Given the description of an element on the screen output the (x, y) to click on. 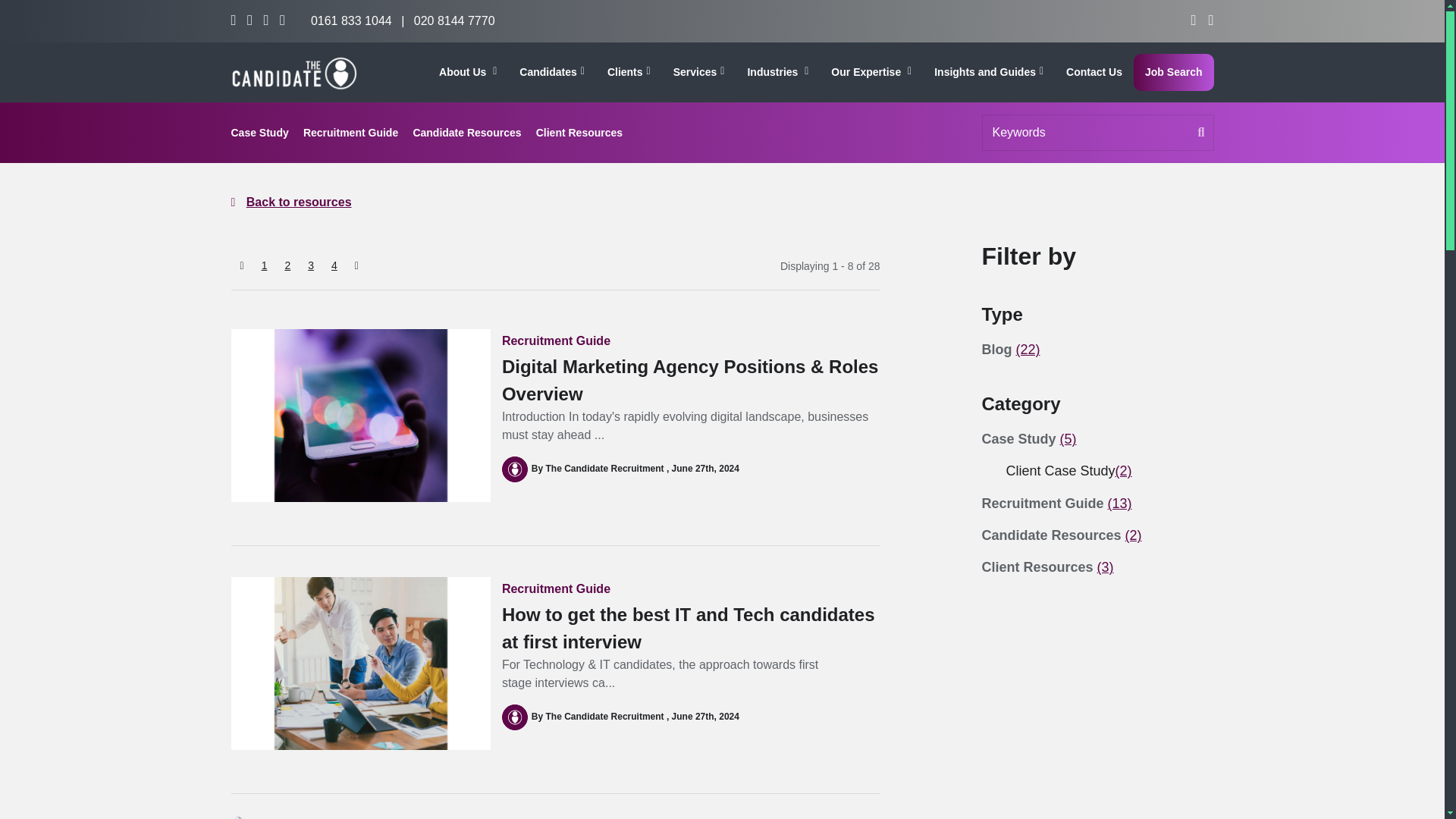
About Us (468, 72)
Services (699, 72)
Clients (628, 72)
Candidates (551, 72)
Industries (777, 72)
020 8144 7770 (454, 20)
0161 833 1044 (351, 20)
